Given the description of an element on the screen output the (x, y) to click on. 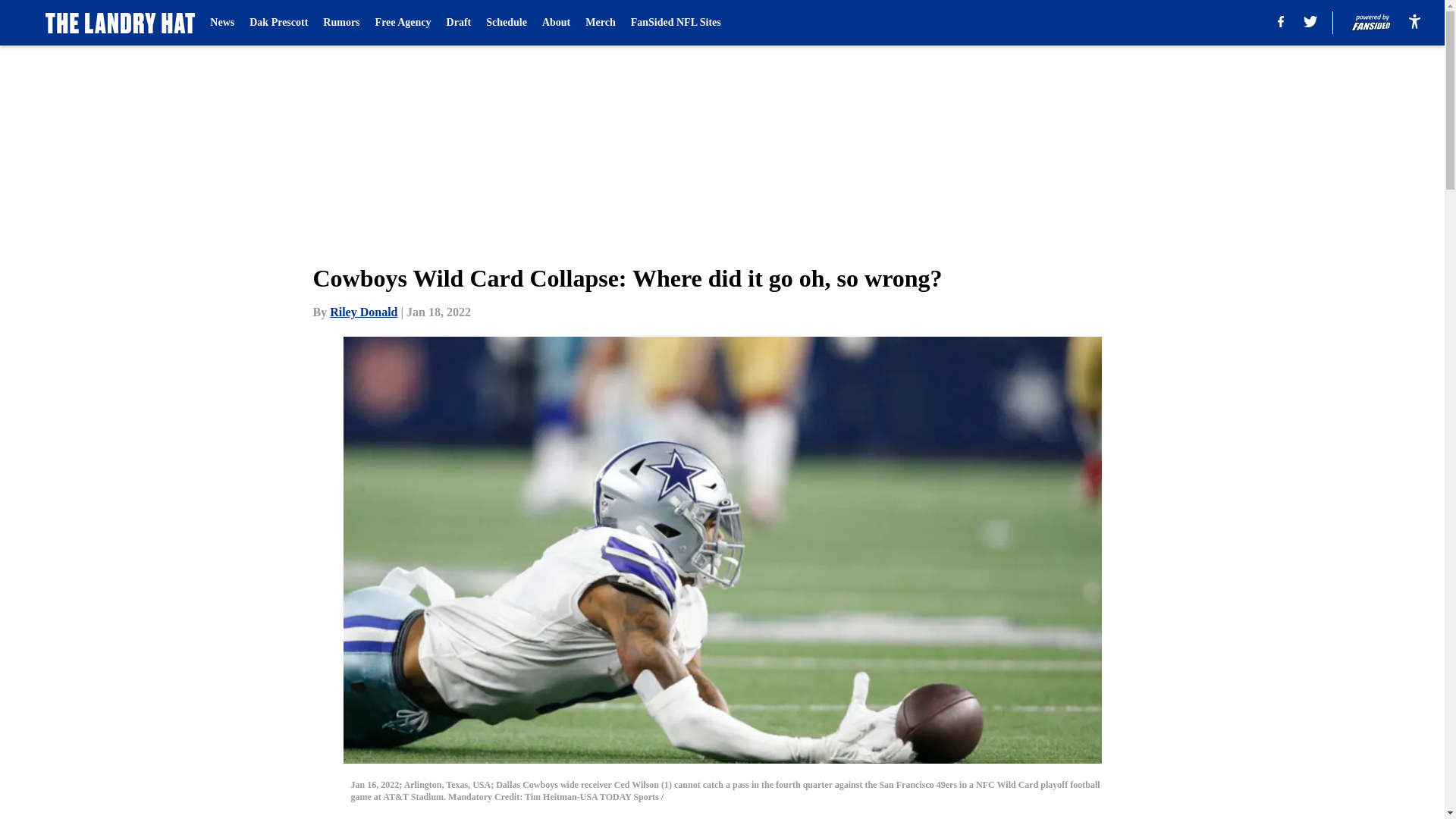
Free Agency (402, 22)
Riley Donald (363, 311)
Draft (458, 22)
Merch (599, 22)
About (555, 22)
News (221, 22)
Schedule (506, 22)
Rumors (341, 22)
Dak Prescott (277, 22)
FanSided NFL Sites (675, 22)
